Given the description of an element on the screen output the (x, y) to click on. 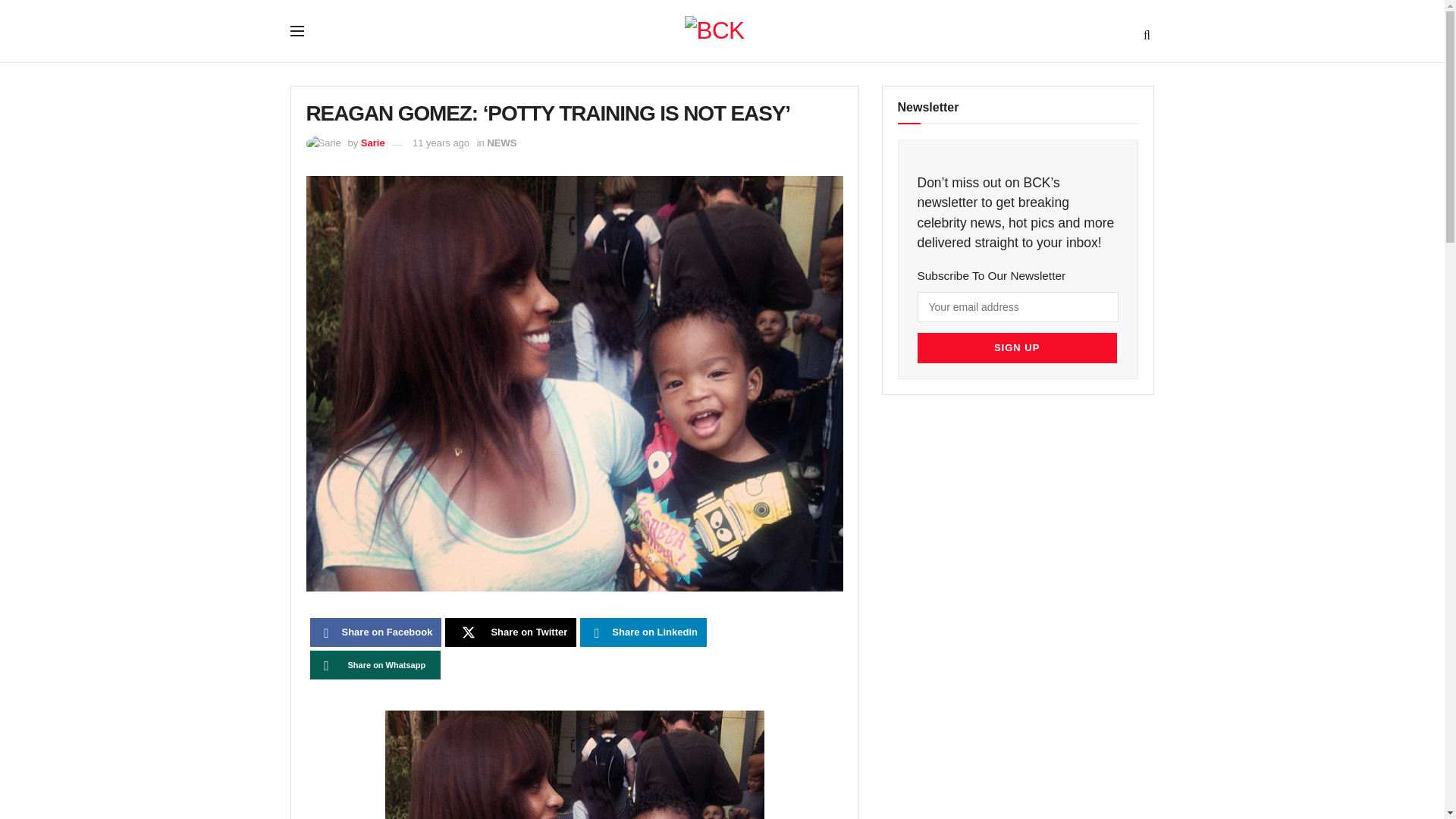
Share on Linkedin (642, 632)
Share on Twitter (510, 632)
Sarie (373, 142)
11 years ago (440, 142)
Share on Facebook (374, 632)
Share on Whatsapp (374, 664)
Sign up (1016, 347)
NEWS (501, 142)
